Given the description of an element on the screen output the (x, y) to click on. 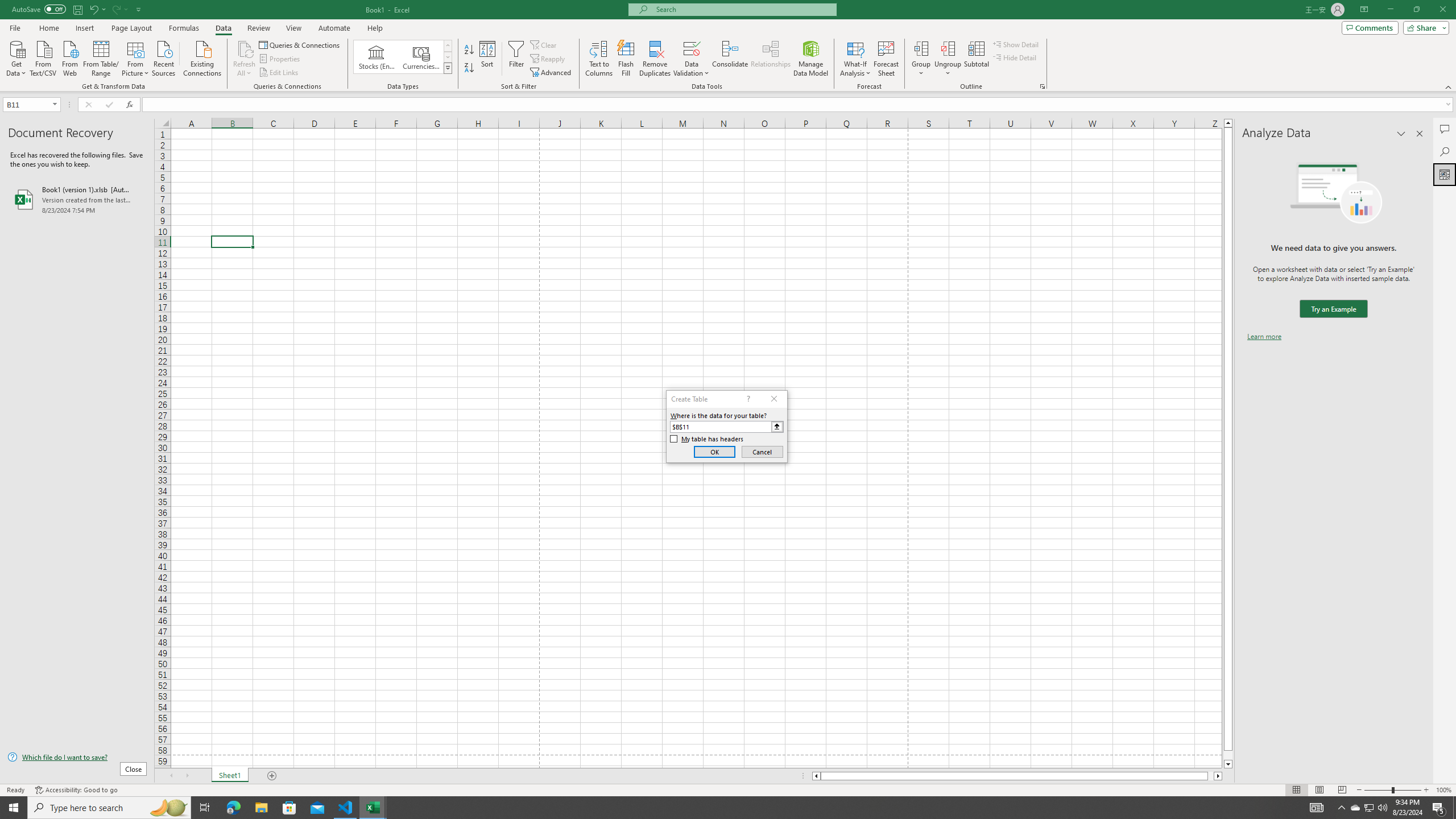
Reapply (548, 58)
From Web (69, 57)
Sort... (487, 58)
Review (258, 28)
Help (374, 28)
Show Detail (1016, 44)
What-If Analysis (855, 58)
Text to Columns... (598, 58)
Ungroup... (947, 58)
Row up (448, 45)
AutomationID: ConvertToLinkedEntity (403, 56)
Currencies (English) (420, 56)
